Given the description of an element on the screen output the (x, y) to click on. 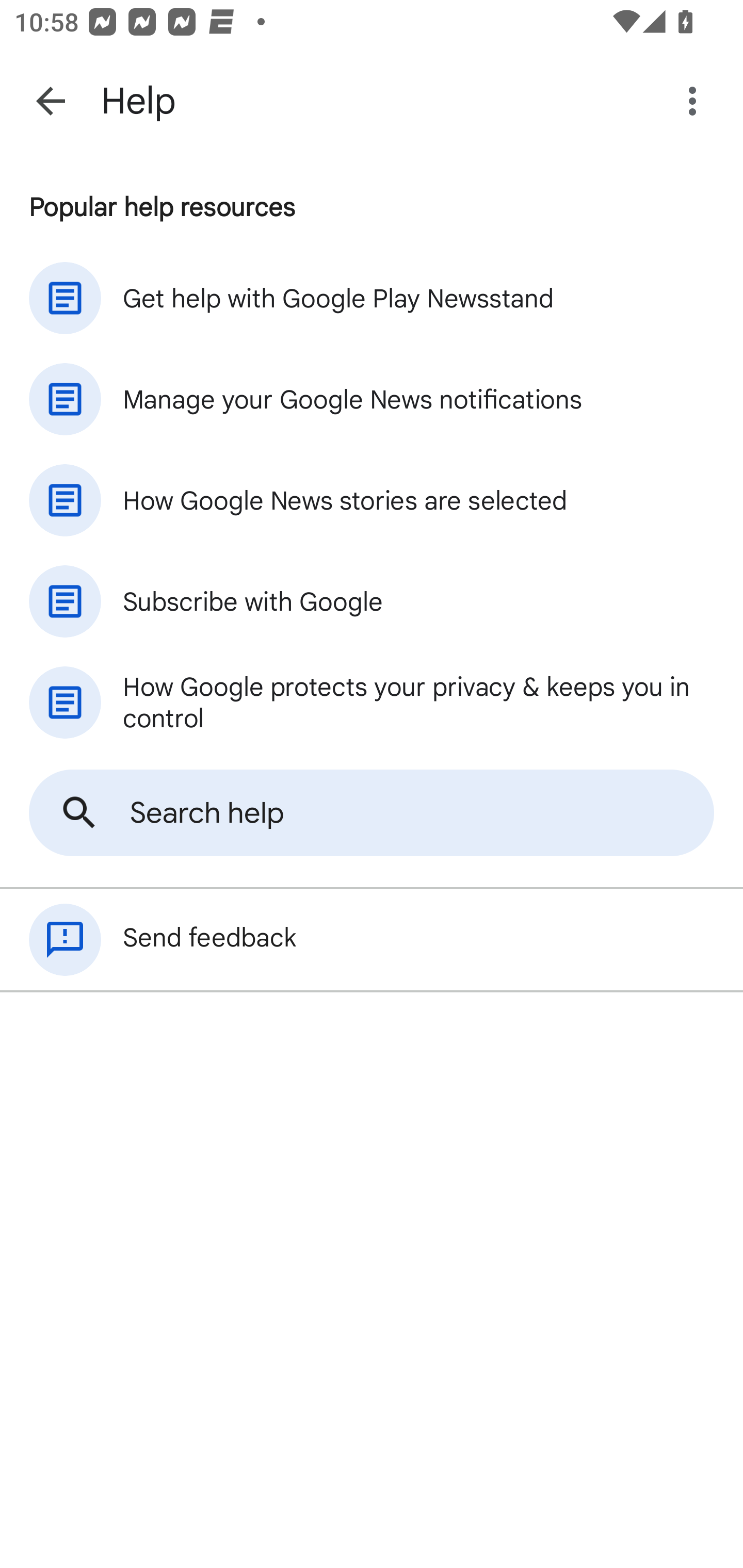
Navigate up (50, 101)
More options (696, 101)
Get help with Google Play Newsstand (371, 297)
Manage your Google News notifications (371, 399)
How Google News stories are selected (371, 500)
Subscribe with Google (371, 601)
Search help (371, 812)
Send feedback (371, 939)
